Given the description of an element on the screen output the (x, y) to click on. 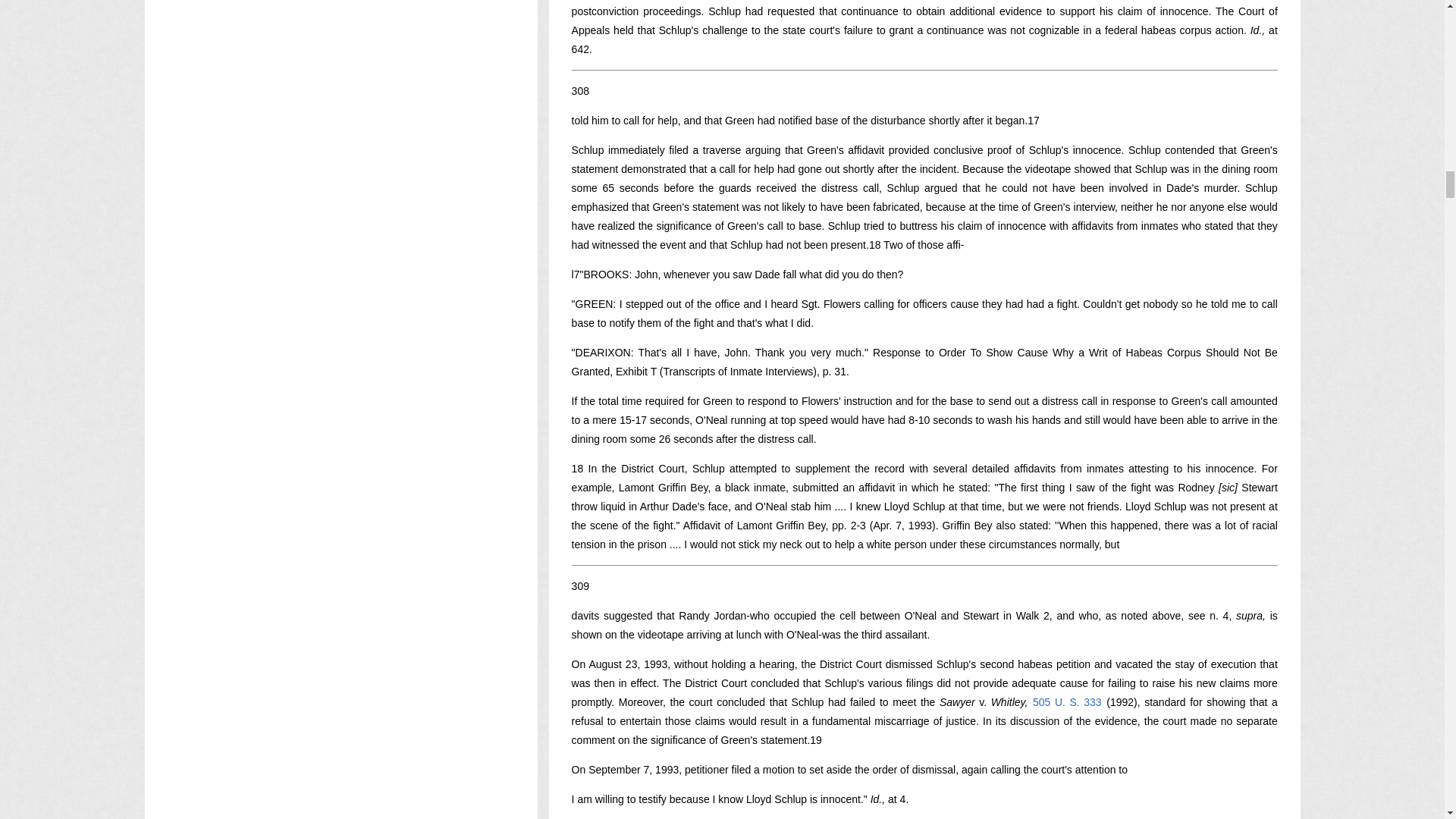
308 (580, 91)
505 U. S. 333 (1067, 702)
309 (580, 585)
